Given the description of an element on the screen output the (x, y) to click on. 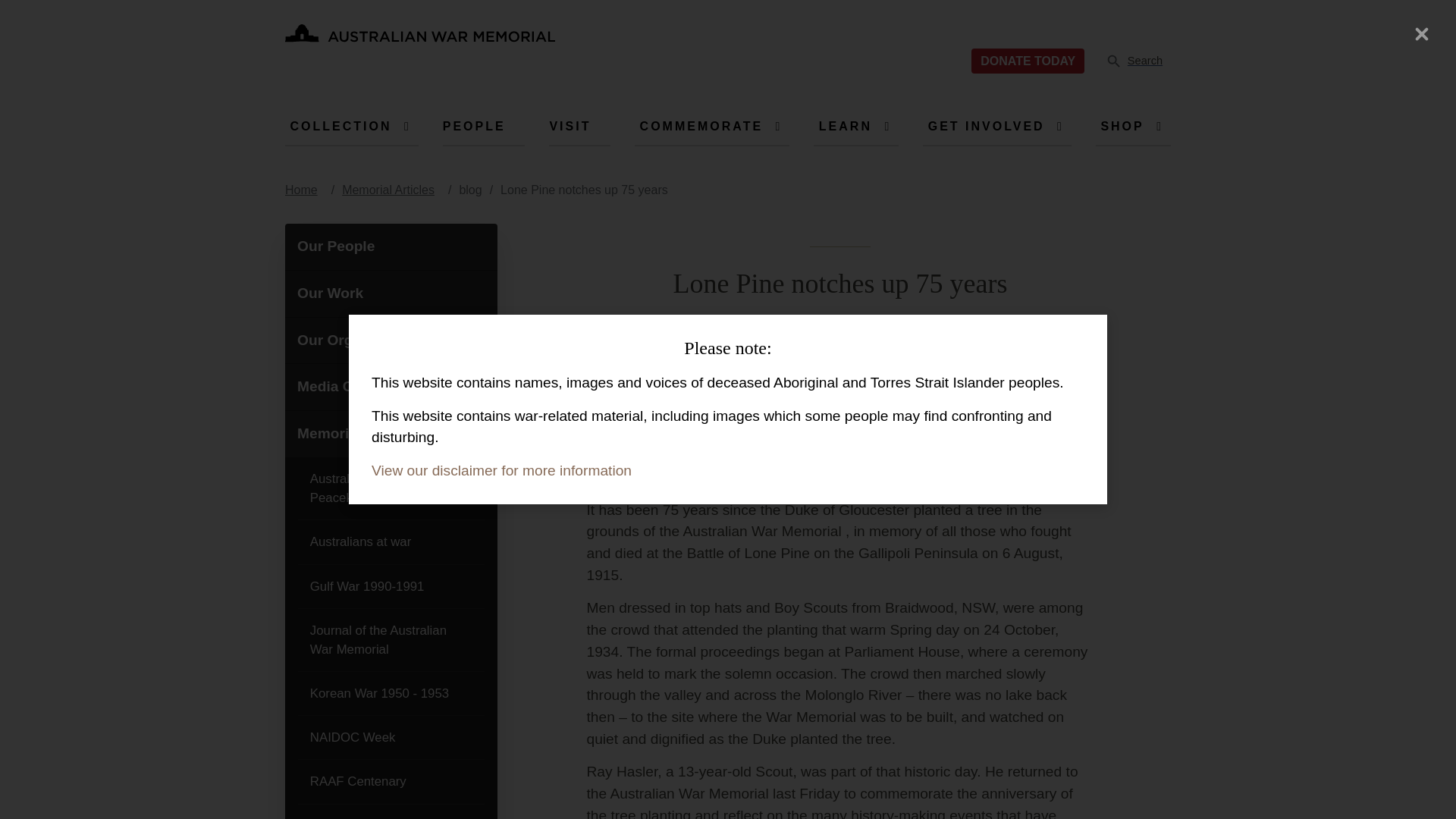
PEOPLE (473, 126)
LEARN (844, 126)
VISIT (569, 126)
GET INVOLVED (1140, 61)
COMMEMORATE (986, 126)
Home (700, 126)
Australian War Memorial Logo (419, 38)
DONATE TODAY (419, 33)
Australian War Memorial Logo (1027, 60)
